Given the description of an element on the screen output the (x, y) to click on. 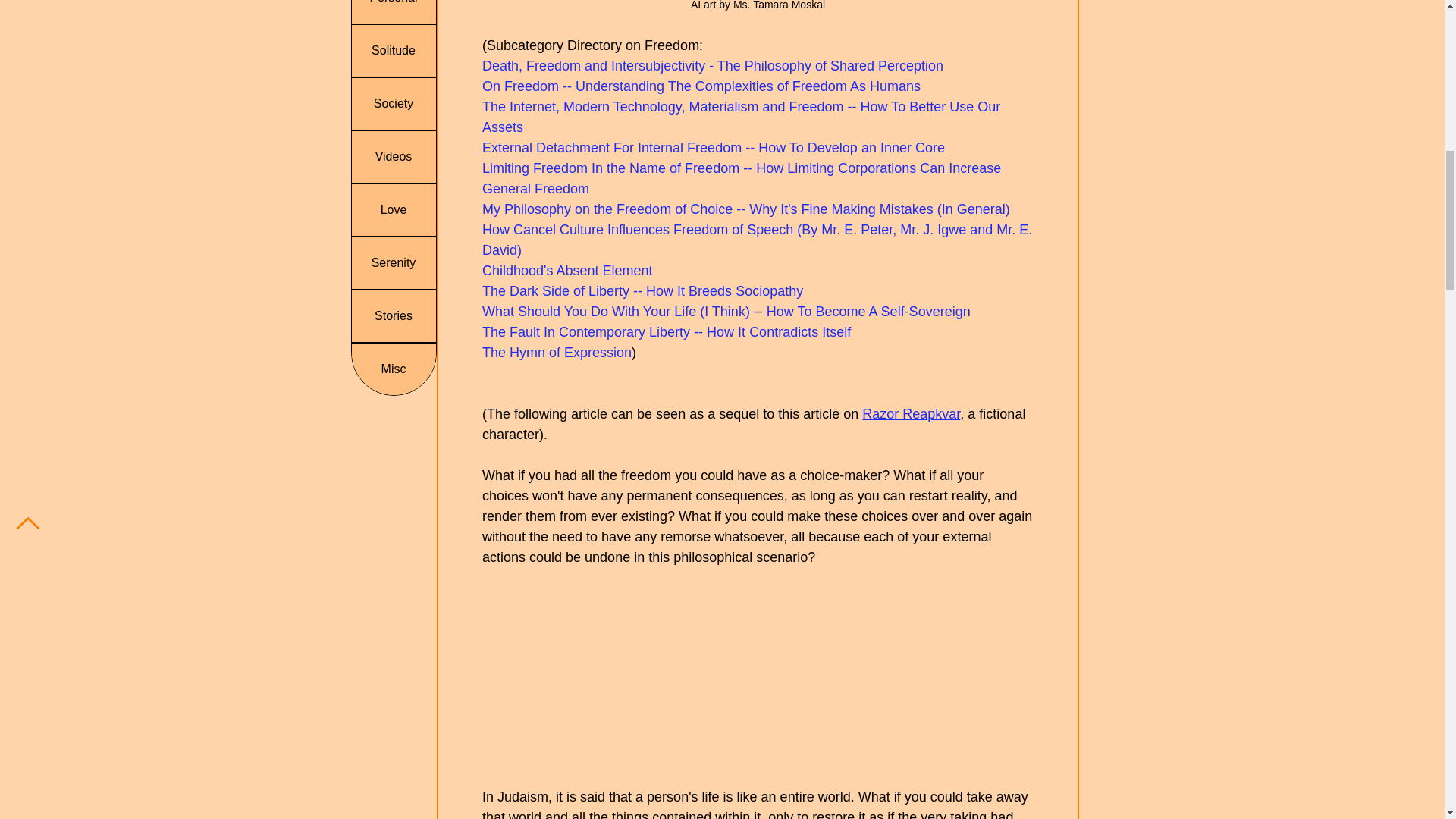
Love (393, 209)
Serenity (393, 263)
Solitude (393, 50)
AI art by Ms. Tamara Moskal (757, 13)
Stories (393, 316)
Misc (393, 368)
Personal (393, 11)
remote content (757, 676)
Videos (393, 156)
Society (393, 103)
